Given the description of an element on the screen output the (x, y) to click on. 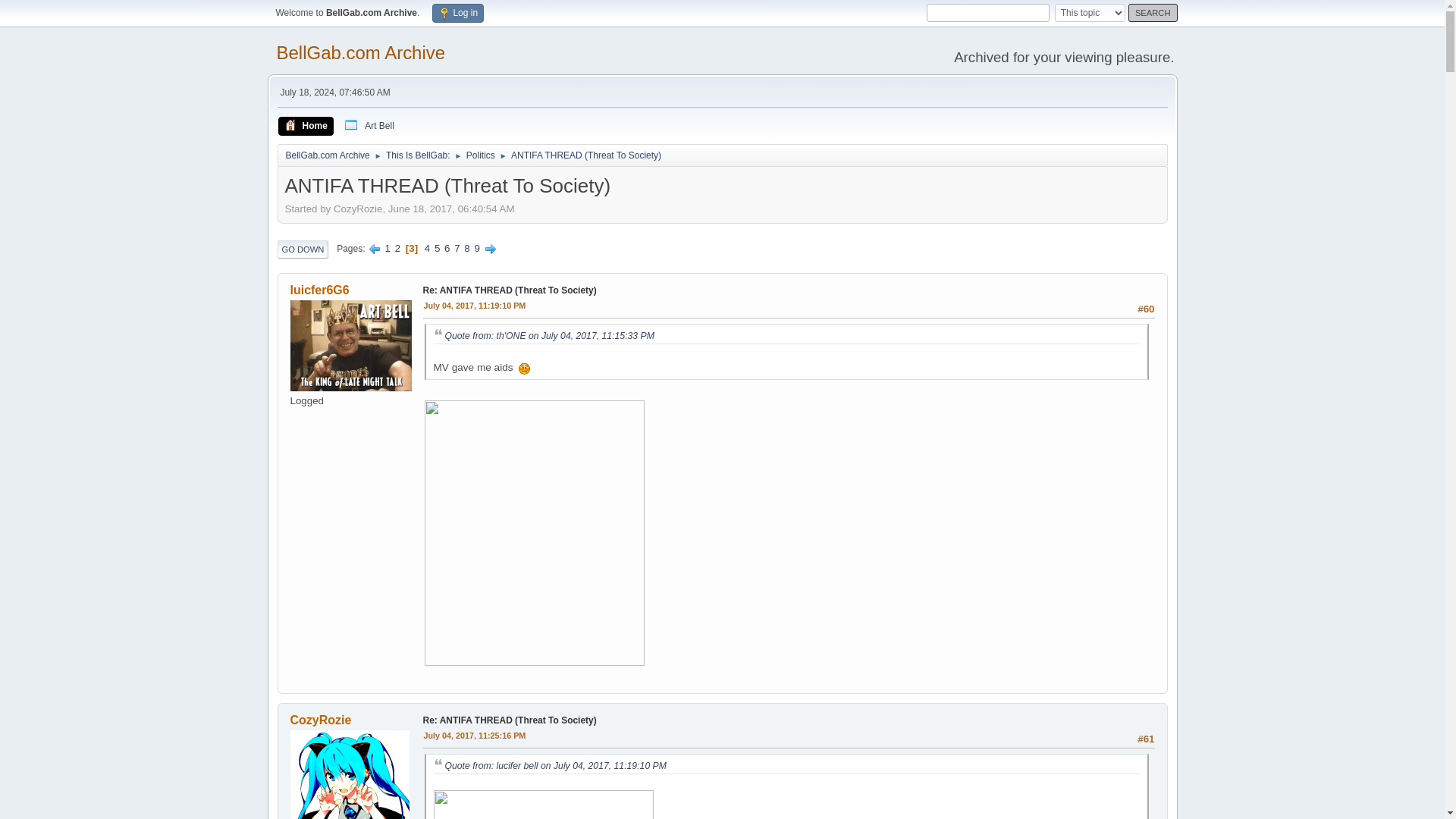
Log in (457, 13)
View the profile of CozyRozie (319, 719)
4 (426, 247)
5 (437, 247)
View the profile of luicfer6G6 (319, 289)
July 04, 2017, 11:25:16 PM (474, 735)
GO DOWN (303, 249)
BellGab.com Archive (360, 52)
Quote from: th'ONE on July 04, 2017, 11:15:33 PM (548, 335)
Search (1152, 13)
6 (446, 247)
Search (1152, 13)
8 (466, 247)
2 (397, 247)
This Is BellGab: (417, 152)
